Given the description of an element on the screen output the (x, y) to click on. 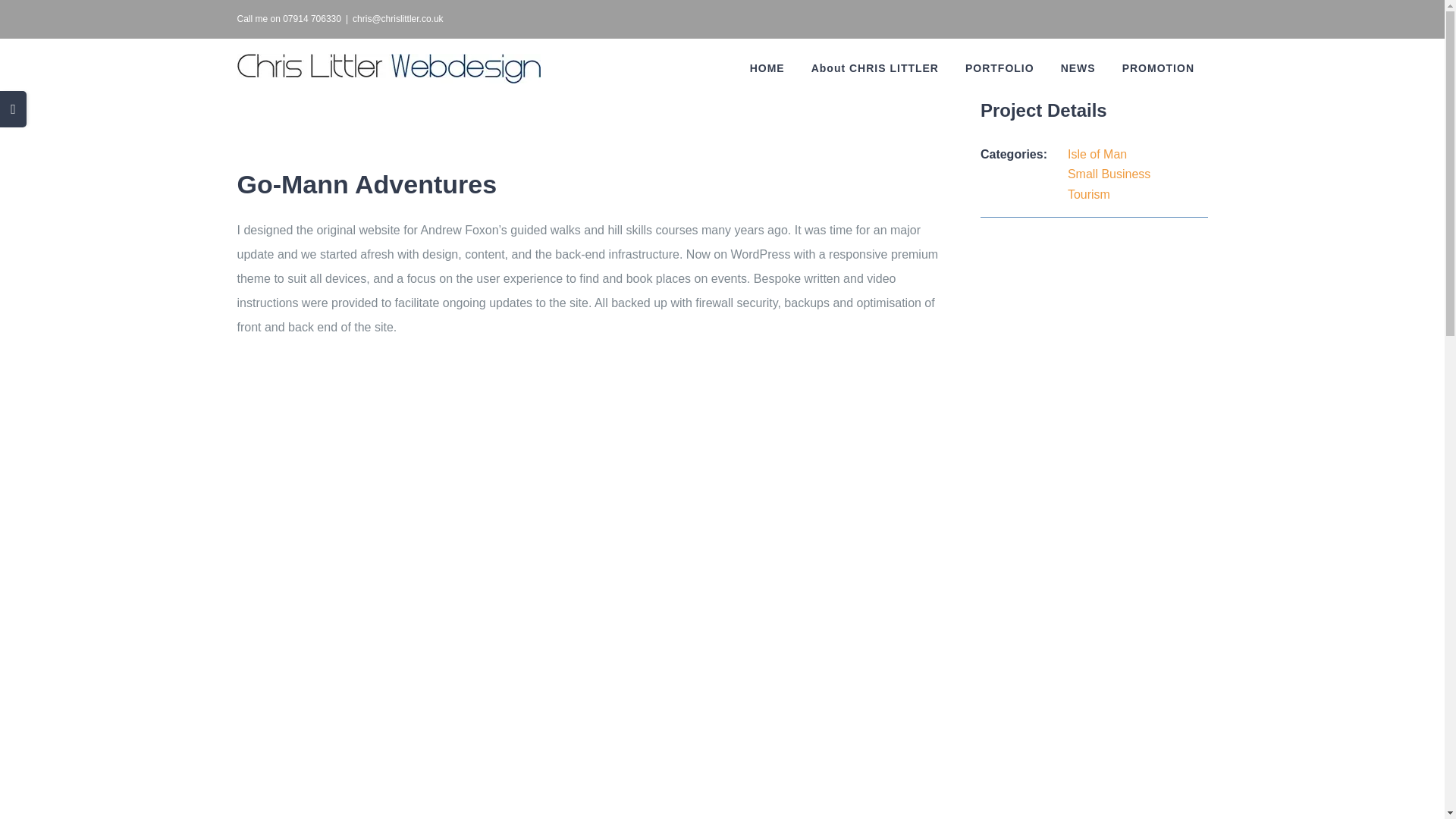
Tourism (1088, 194)
Small Business (1108, 173)
PROMOTION (1157, 67)
PORTFOLIO (999, 67)
About CHRIS LITTLER (874, 67)
HOME (766, 67)
Isle of Man (1096, 154)
NEWS (1077, 67)
